Given the description of an element on the screen output the (x, y) to click on. 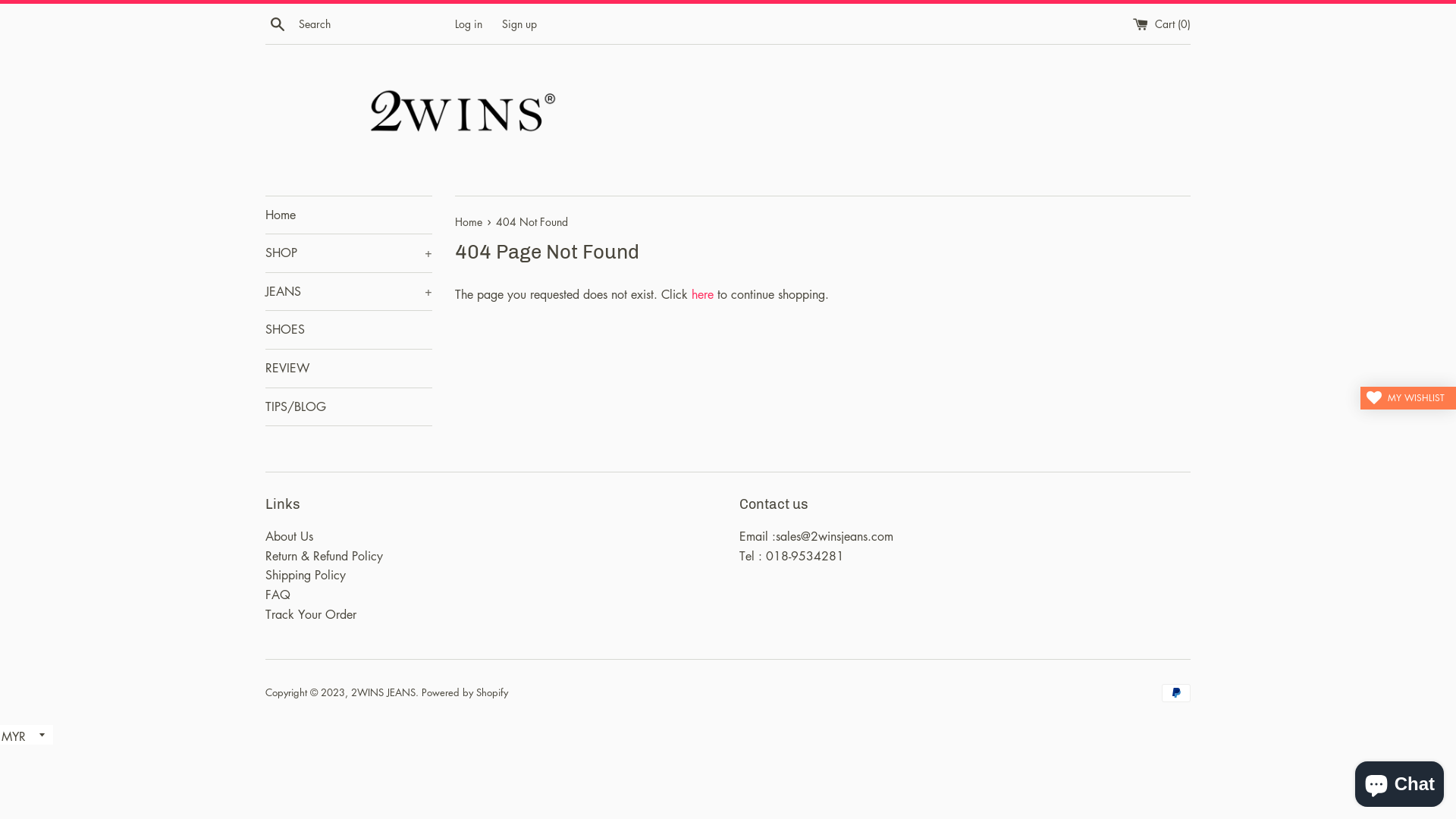
Search Element type: text (277, 23)
JEANS
+ Element type: text (348, 291)
2WINS JEANS Element type: text (383, 691)
REVIEW Element type: text (348, 368)
Shopify online store chat Element type: hover (1399, 780)
Home Element type: text (470, 221)
FAQ Element type: text (277, 594)
SHOES Element type: text (348, 329)
Cart (0) Element type: text (1161, 22)
here Element type: text (702, 293)
About Us Element type: text (289, 535)
Shipping Policy Element type: text (305, 574)
SHOP
+ Element type: text (348, 253)
Return & Refund Policy Element type: text (323, 555)
Sign up Element type: text (519, 22)
Home Element type: text (348, 215)
Track Your Order Element type: text (310, 613)
Log in Element type: text (468, 22)
Powered by Shopify Element type: text (464, 691)
TIPS/BLOG Element type: text (348, 407)
